Given the description of an element on the screen output the (x, y) to click on. 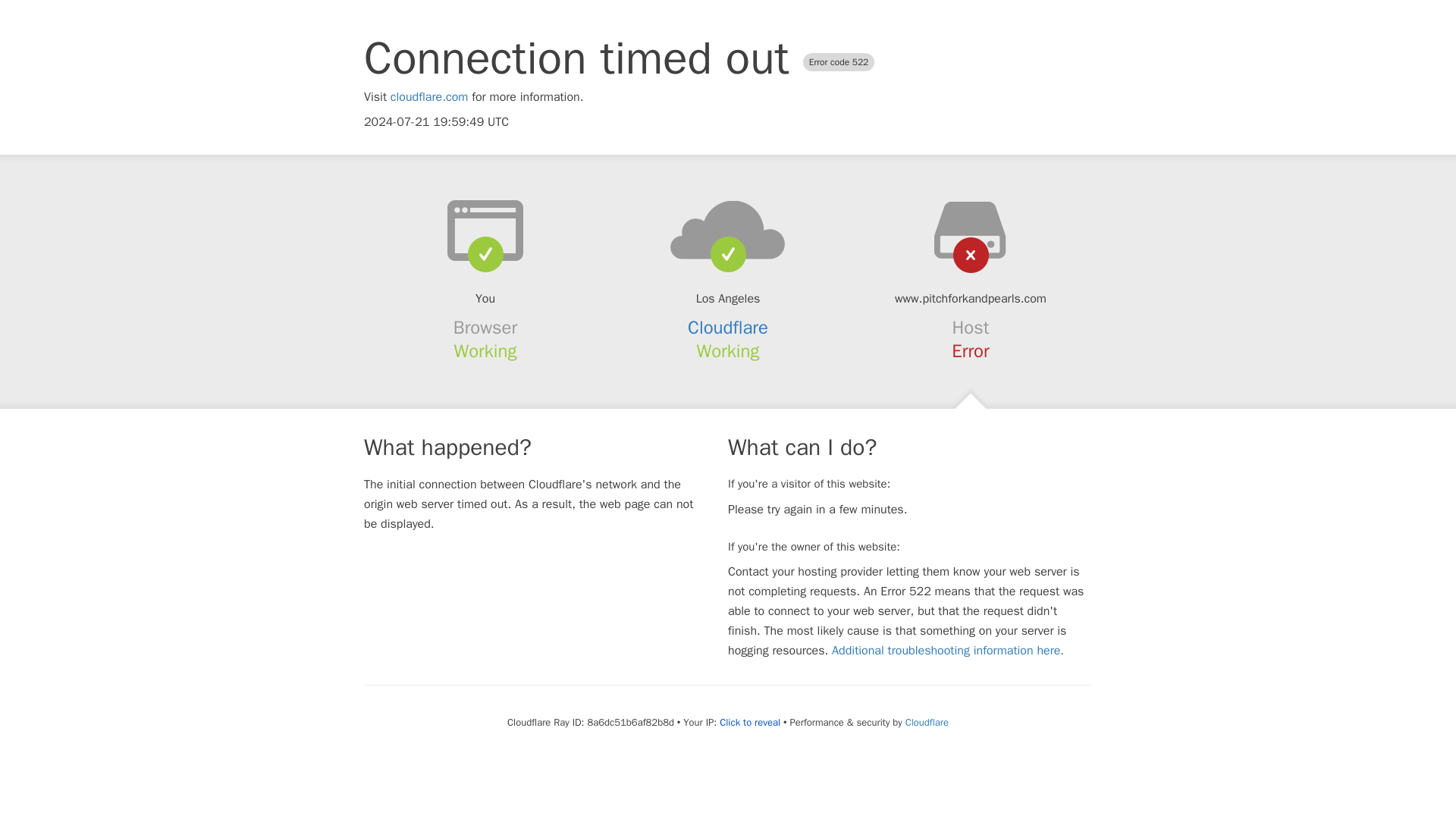
Cloudflare (927, 721)
Click to reveal (749, 722)
Cloudflare (727, 327)
cloudflare.com (429, 96)
Additional troubleshooting information here. (947, 650)
